Given the description of an element on the screen output the (x, y) to click on. 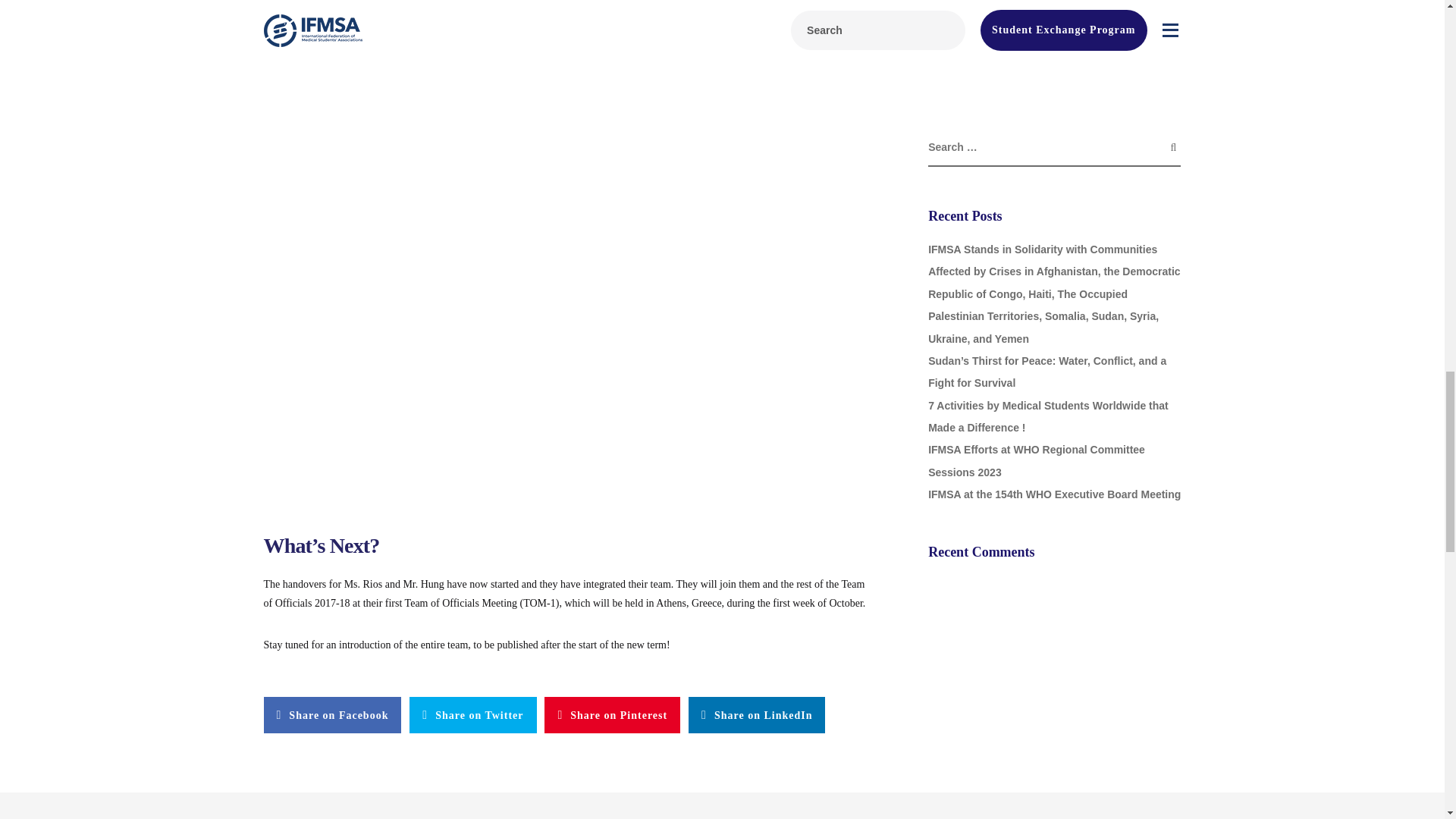
Share on Facebook (332, 714)
Share on Pinterest (611, 714)
Share on LinkedIn (756, 714)
Share on Twitter (472, 714)
